Given the description of an element on the screen output the (x, y) to click on. 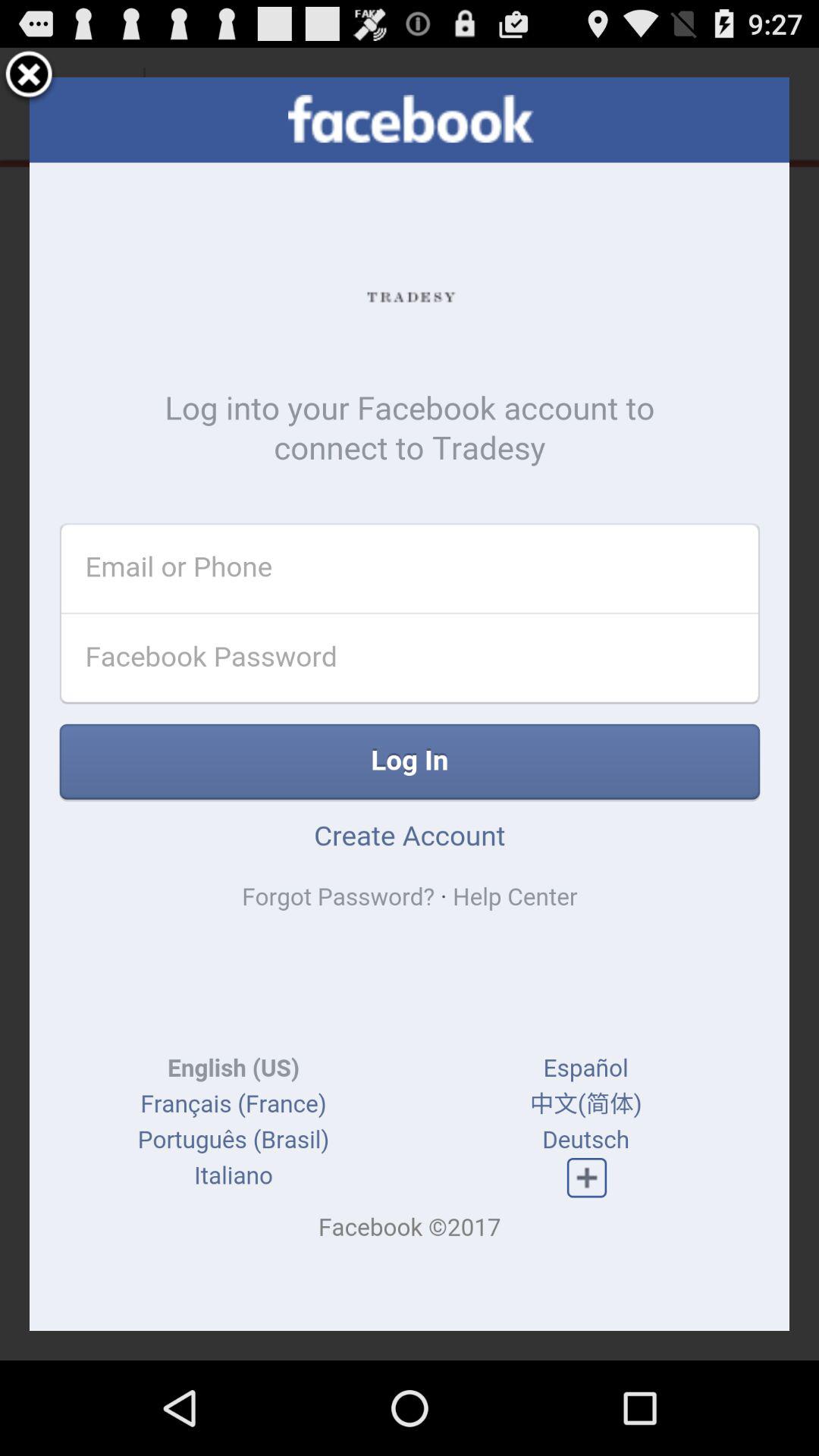
close option (29, 76)
